Given the description of an element on the screen output the (x, y) to click on. 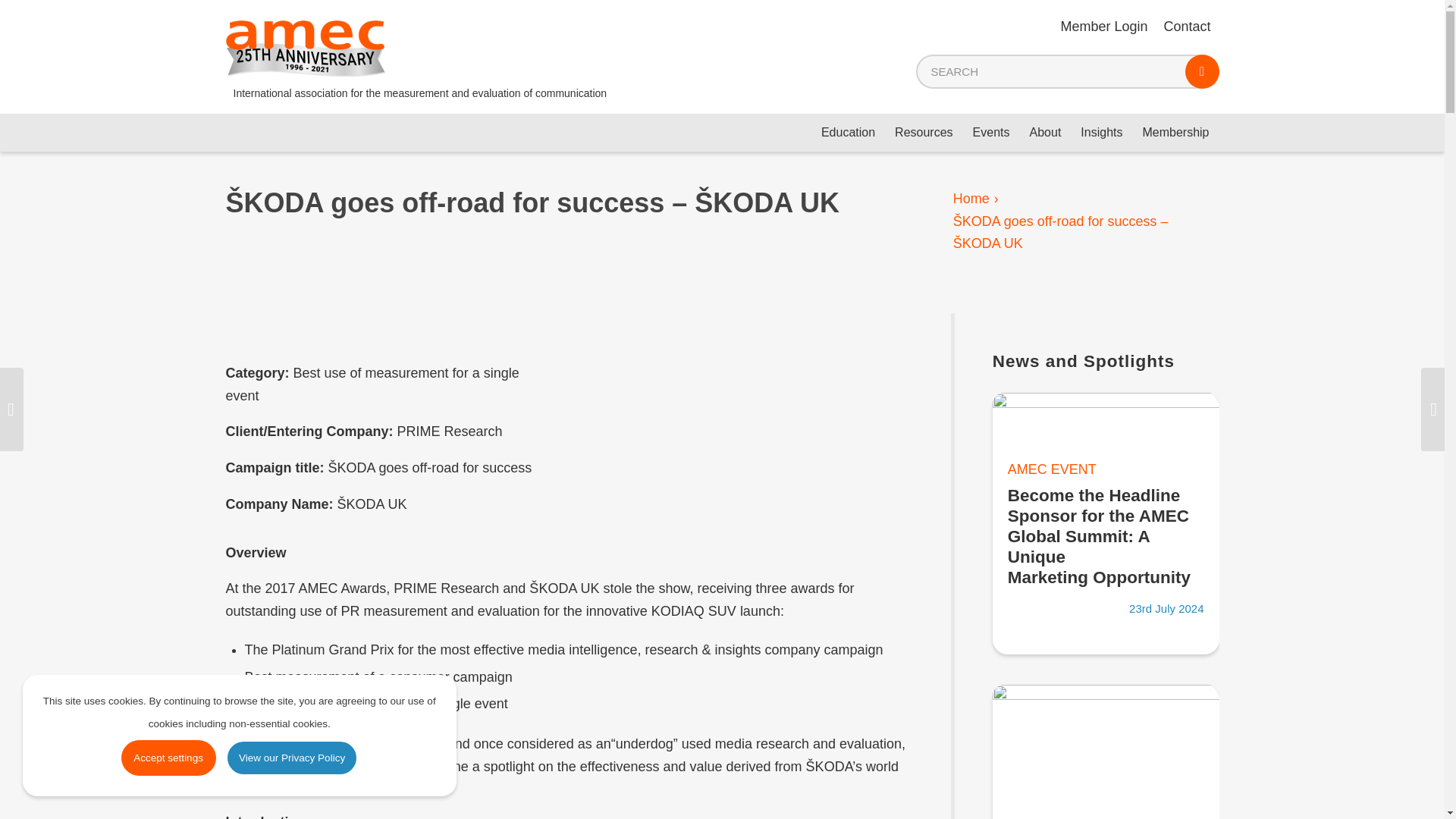
Click to start search (1201, 71)
Education (847, 132)
Member Login (1103, 26)
AMEC 25 (306, 48)
Resources (923, 132)
Events (991, 132)
AMEC (970, 199)
Contact (1186, 26)
Get more info about how we use cookies on our website (291, 757)
